Given the description of an element on the screen output the (x, y) to click on. 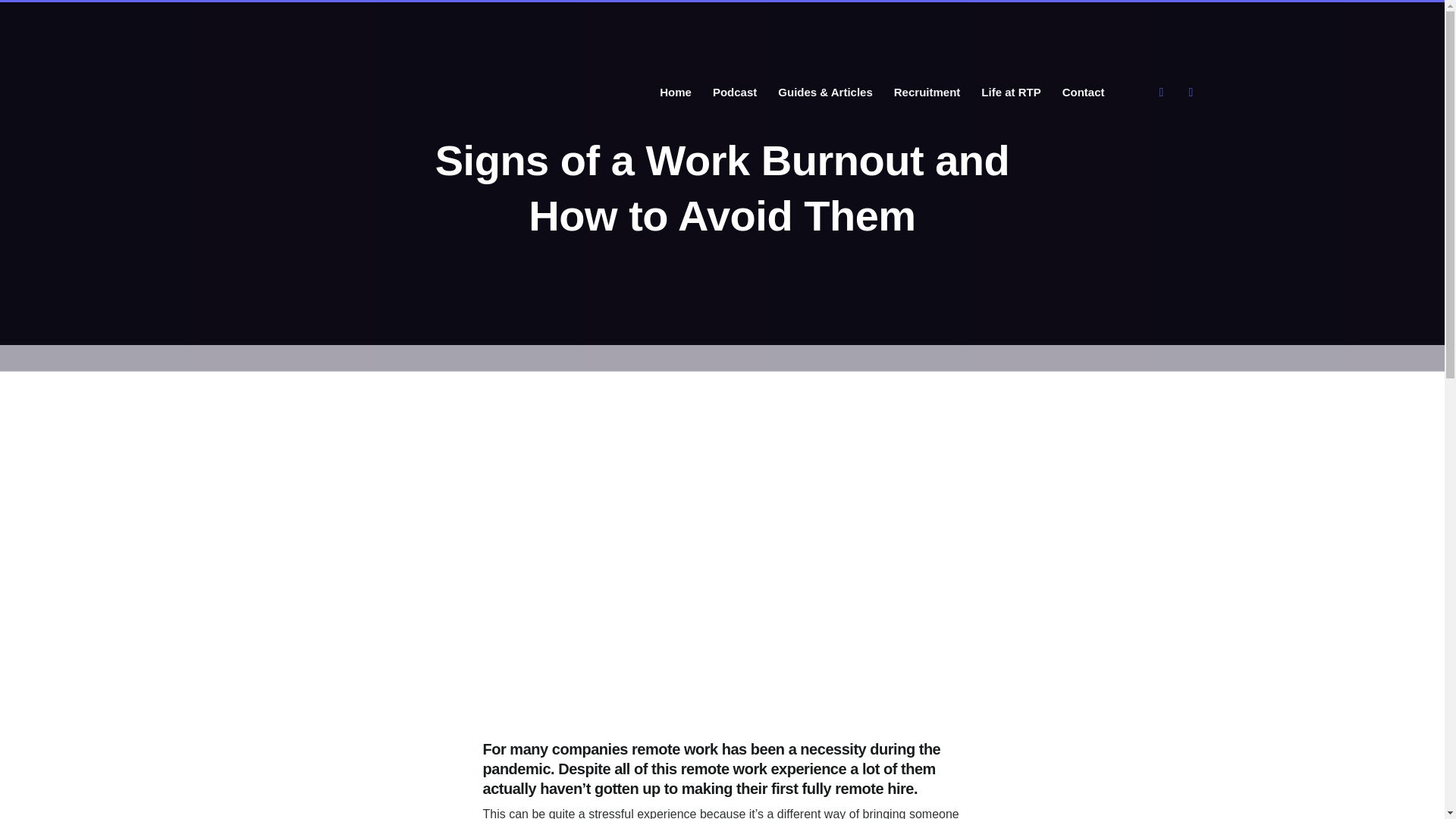
Home (675, 92)
Life at RTP (1011, 92)
Recruitment (927, 92)
Podcast (734, 92)
Contact (1083, 92)
